Given the description of an element on the screen output the (x, y) to click on. 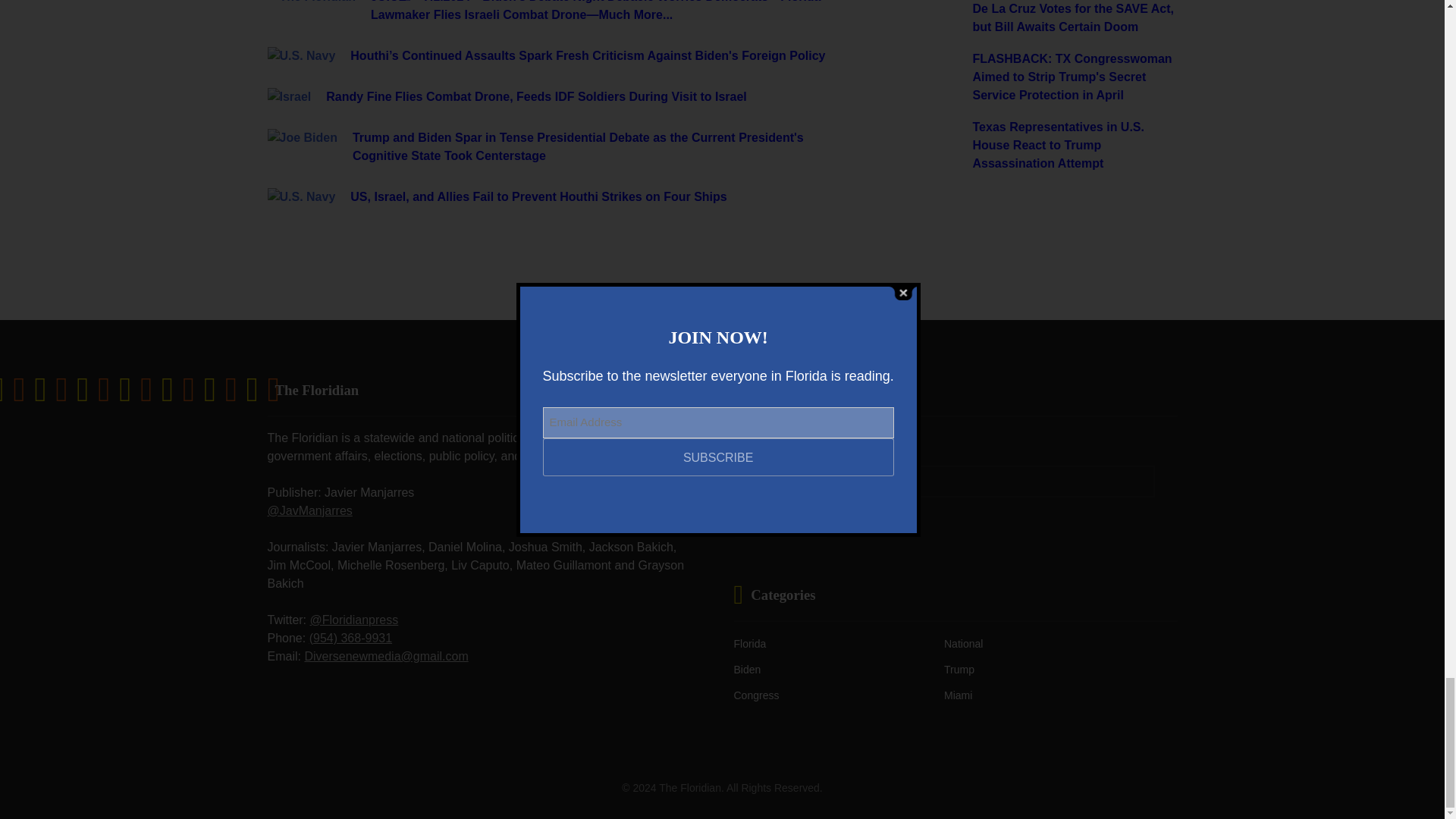
SUBSCRIBE (780, 520)
